Given the description of an element on the screen output the (x, y) to click on. 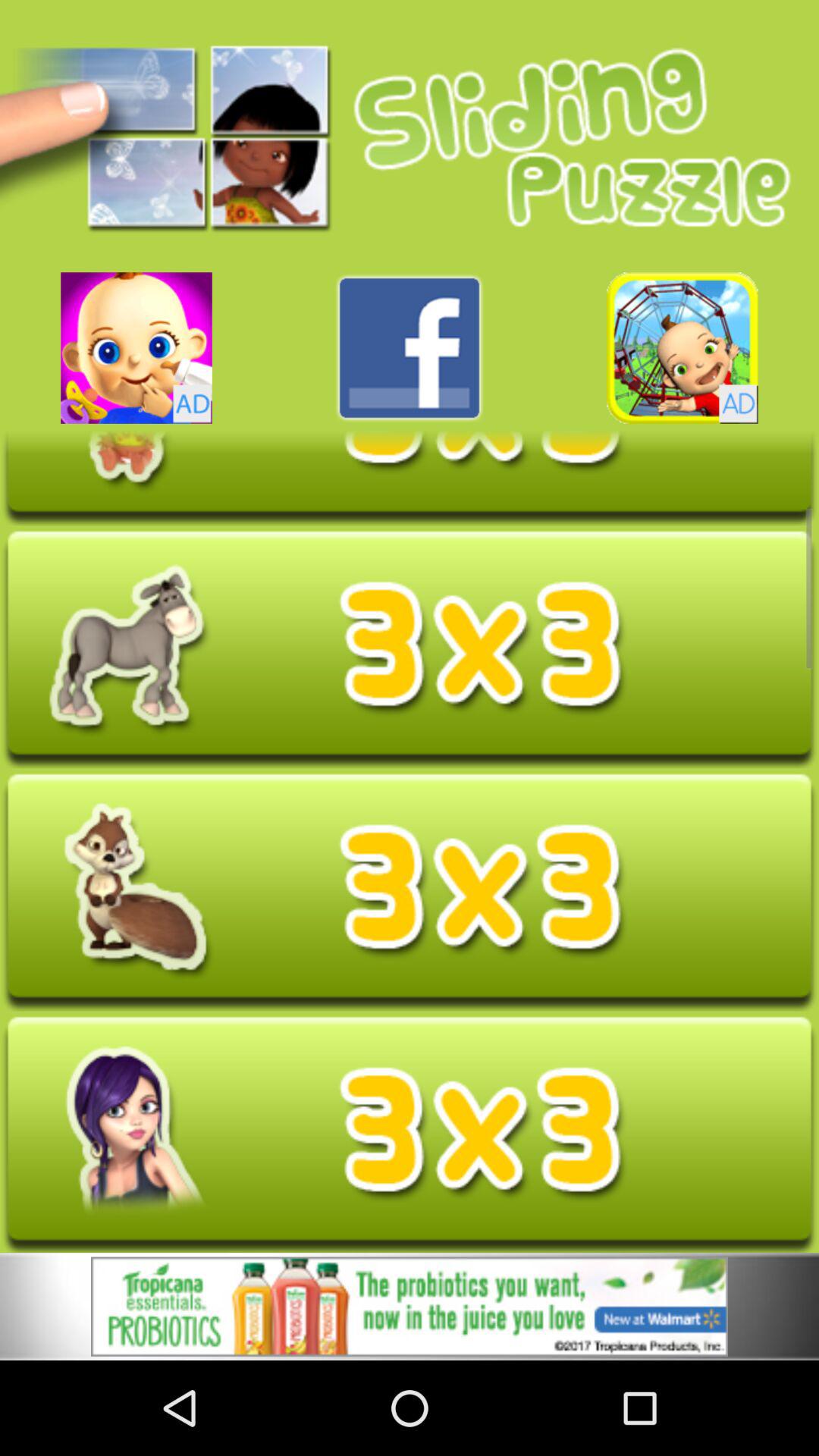
choose this puzzle (409, 891)
